Given the description of an element on the screen output the (x, y) to click on. 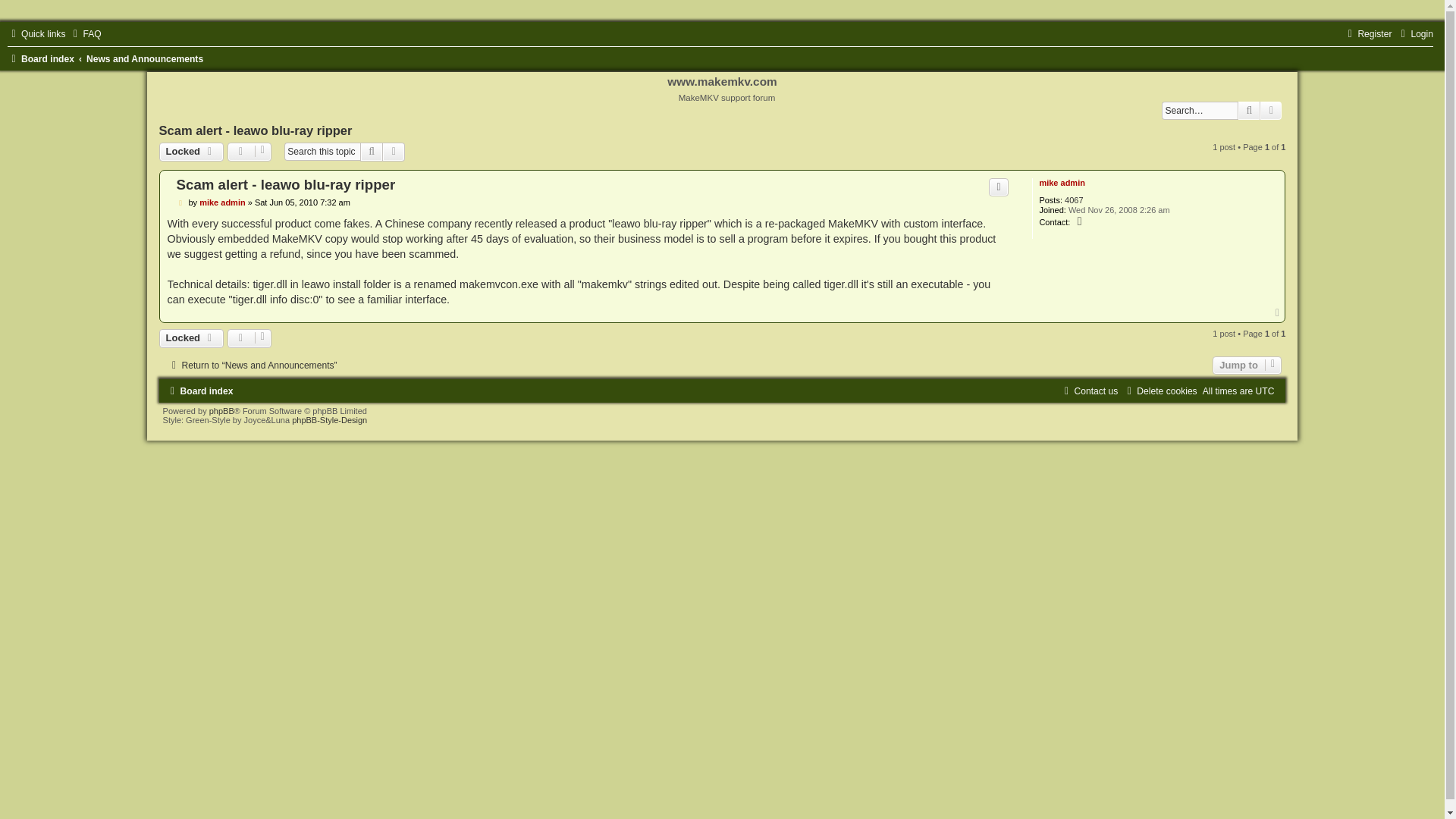
Login (1414, 33)
Contact mike admin (1079, 221)
Quick links (36, 33)
Search (1248, 110)
Contact mike admin (1079, 221)
Topic tools (249, 151)
Search for keywords (1199, 110)
Frequently Asked Questions (84, 33)
